Given the description of an element on the screen output the (x, y) to click on. 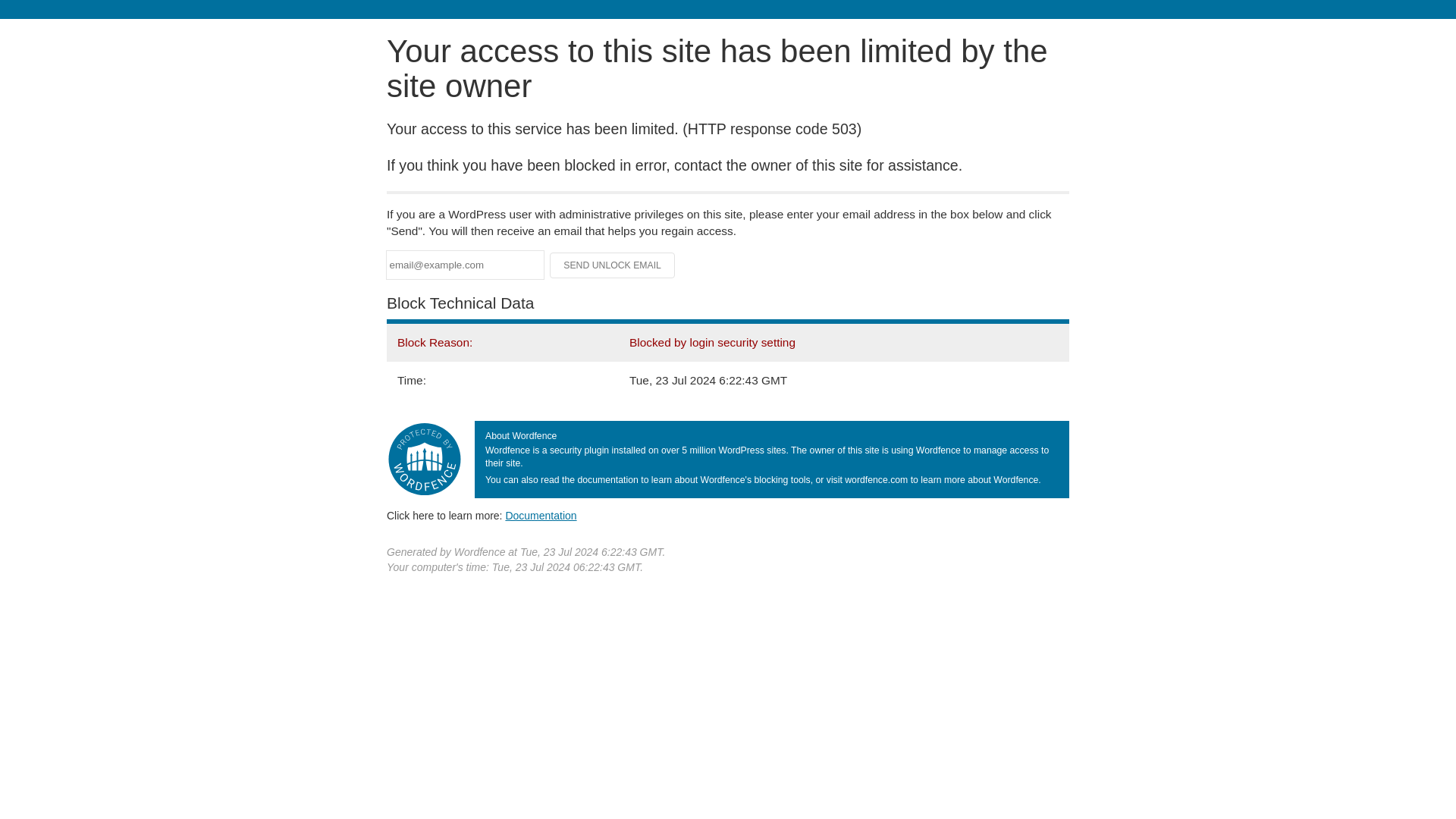
Send Unlock Email (612, 265)
Documentation (540, 515)
Send Unlock Email (612, 265)
